Given the description of an element on the screen output the (x, y) to click on. 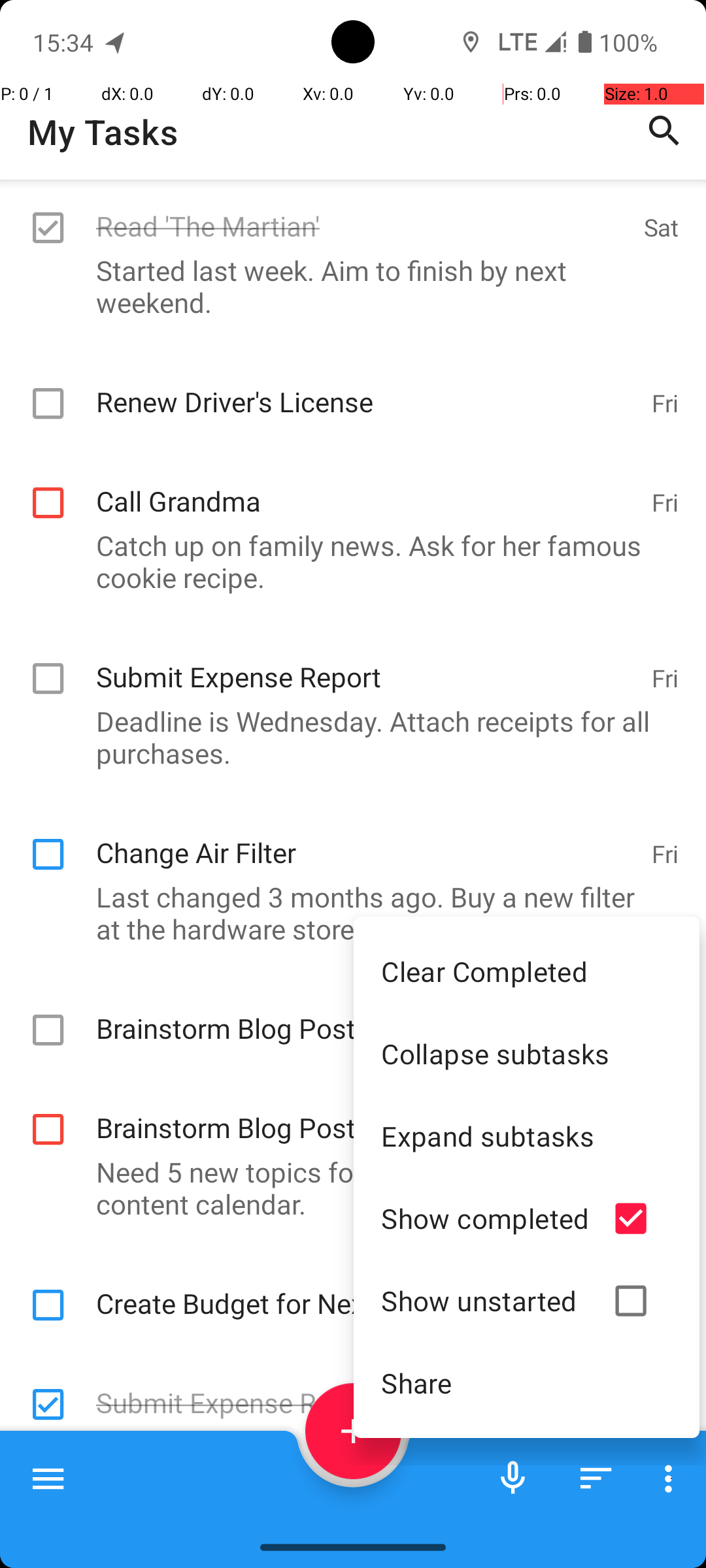
Clear Completed Element type: android.widget.TextView (526, 970)
Collapse subtasks Element type: android.widget.TextView (526, 1053)
Expand subtasks Element type: android.widget.TextView (526, 1135)
Show completed Element type: android.widget.TextView (485, 1217)
Show unstarted Element type: android.widget.TextView (485, 1300)
